Given the description of an element on the screen output the (x, y) to click on. 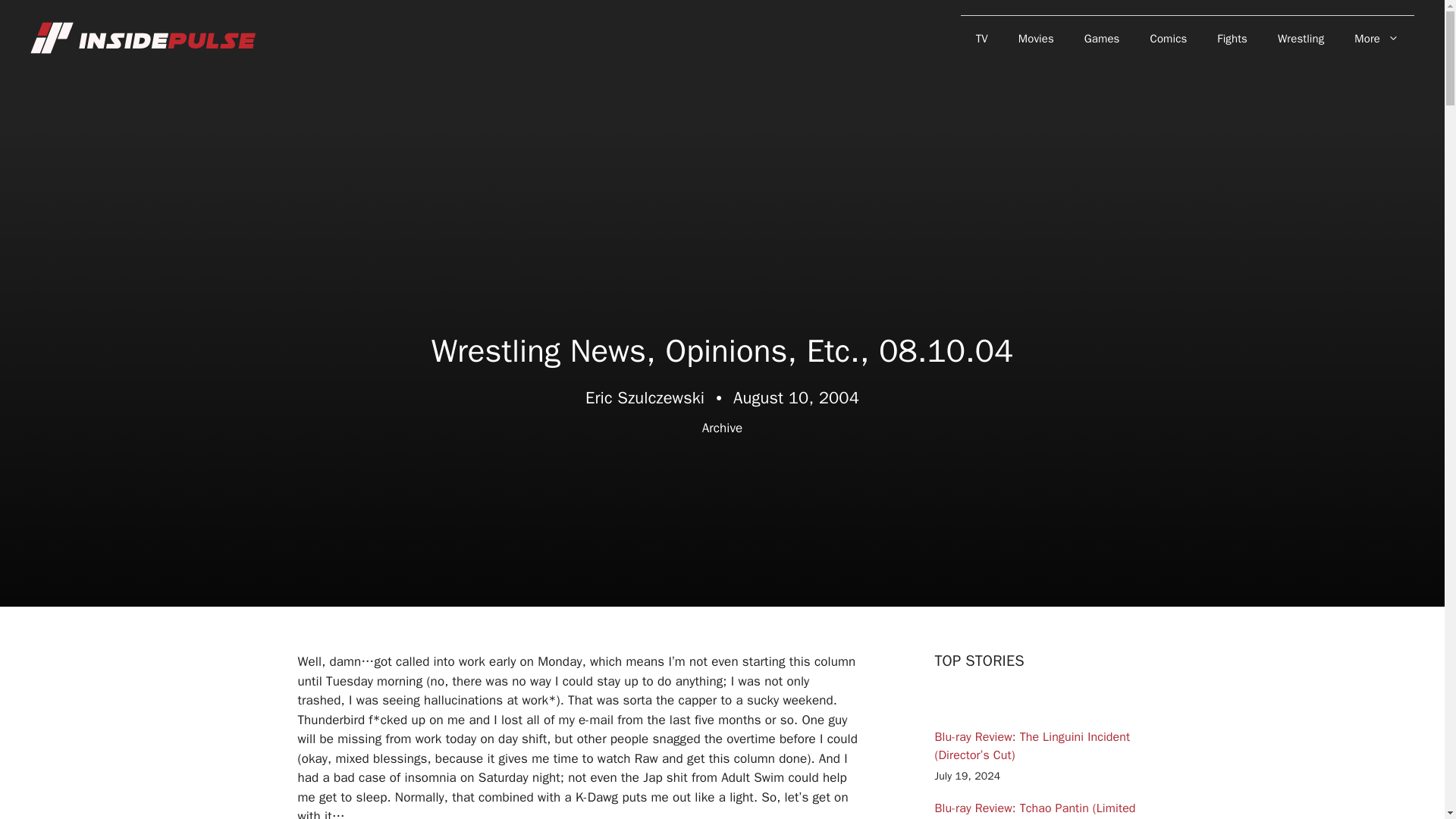
Comics (1168, 38)
More (1376, 38)
TV (981, 38)
Movies (1035, 38)
Eric Szulczewski (644, 397)
Games (1101, 38)
Wrestling (1300, 38)
Inside Pulse (143, 38)
Fights (1232, 38)
Inside Pulse (143, 37)
